Given the description of an element on the screen output the (x, y) to click on. 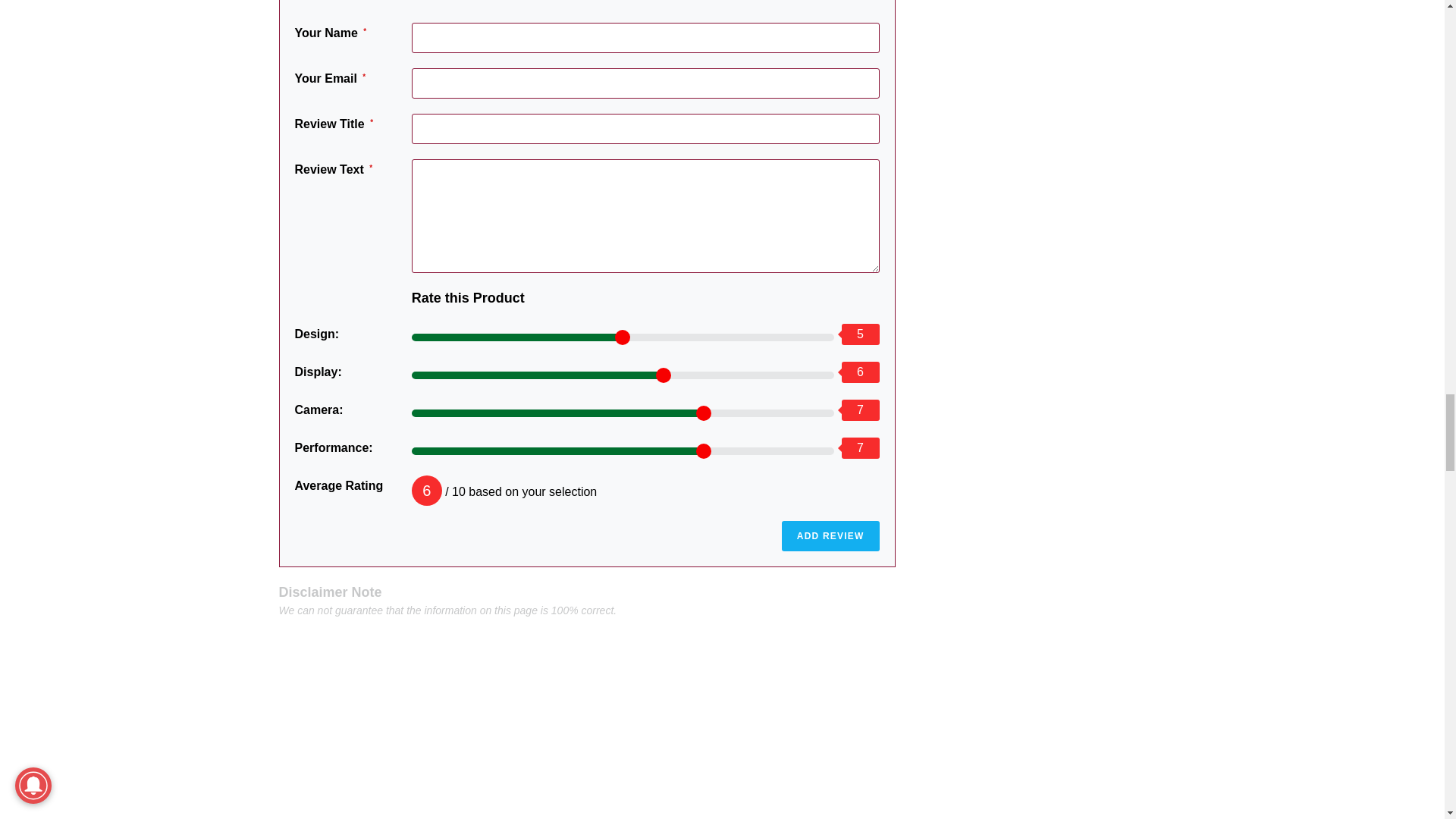
Add Review (830, 535)
7 (623, 412)
7 (623, 451)
6 (623, 375)
5 (623, 337)
Add Review (830, 535)
